Given the description of an element on the screen output the (x, y) to click on. 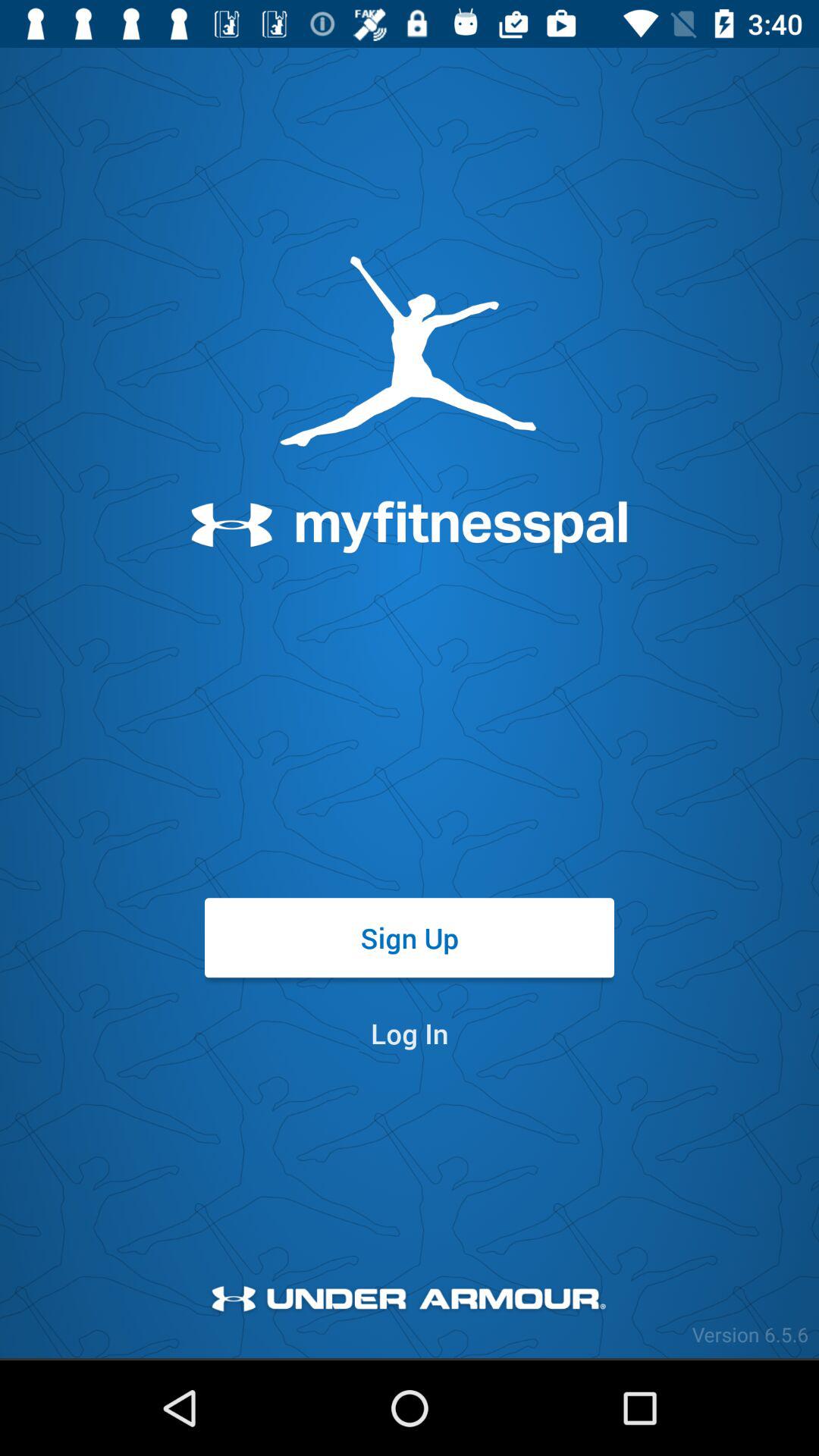
open sign up (409, 937)
